Given the description of an element on the screen output the (x, y) to click on. 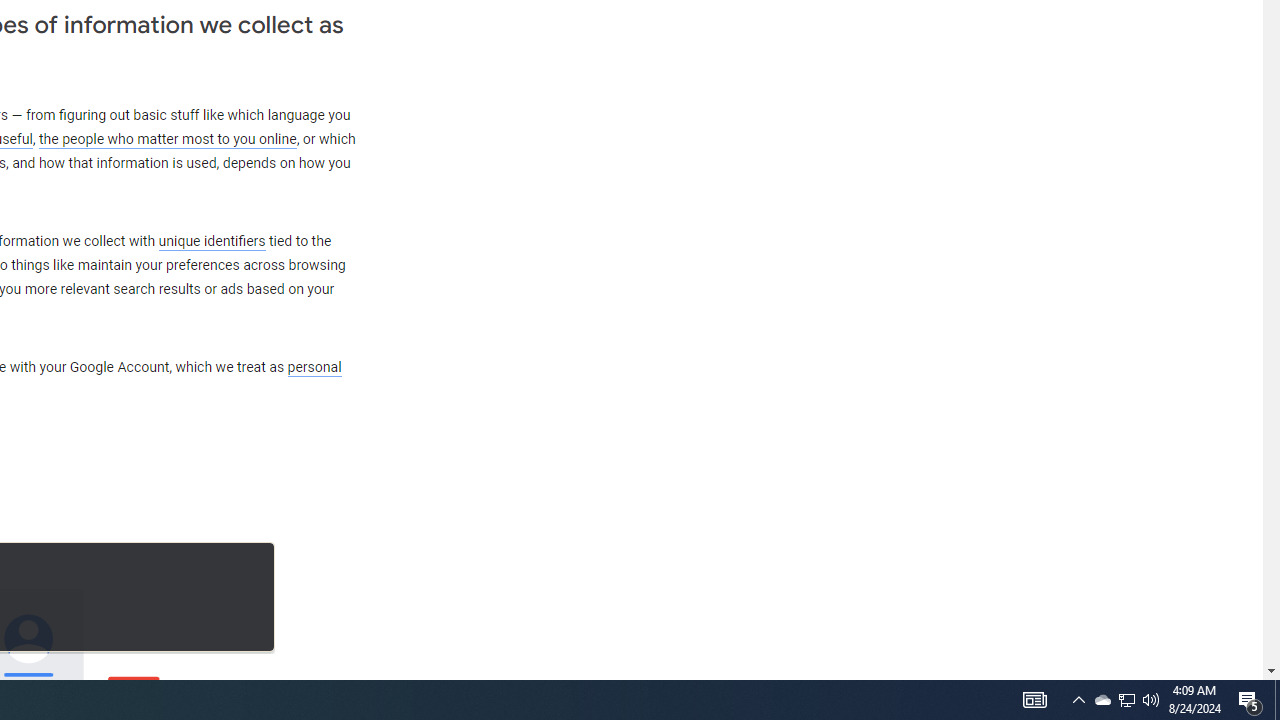
the people who matter most to you online (167, 139)
unique identifiers (211, 241)
